Given the description of an element on the screen output the (x, y) to click on. 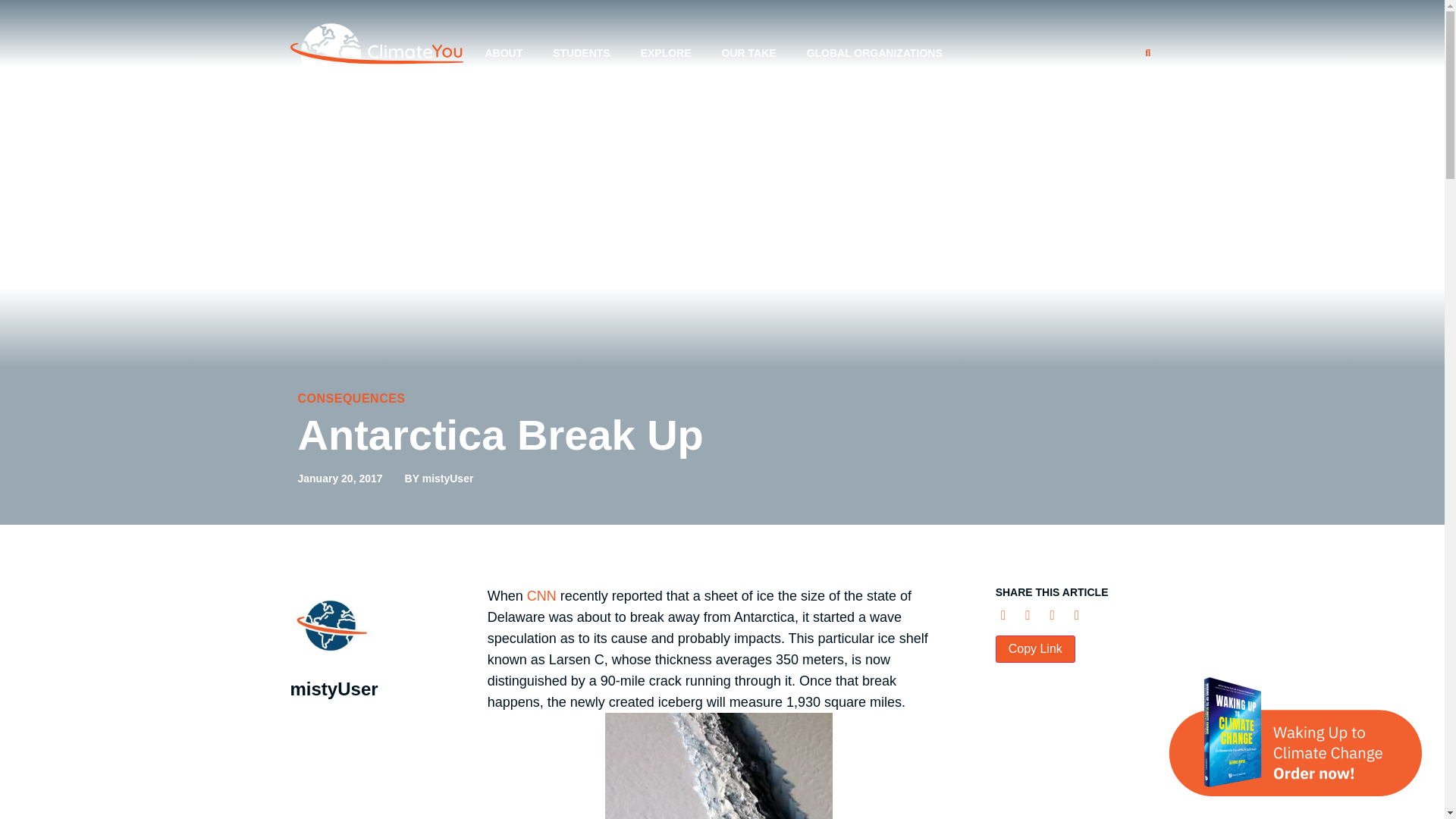
Group 7 (376, 52)
CNN (541, 595)
EXPLORE (666, 53)
STUDENTS (580, 53)
Copy Link (1035, 648)
GLOBAL ORGANIZATIONS (875, 53)
BY mistyUser (439, 478)
ABOUT (502, 53)
OUR TAKE (749, 53)
CONSEQUENCES (350, 398)
